Given the description of an element on the screen output the (x, y) to click on. 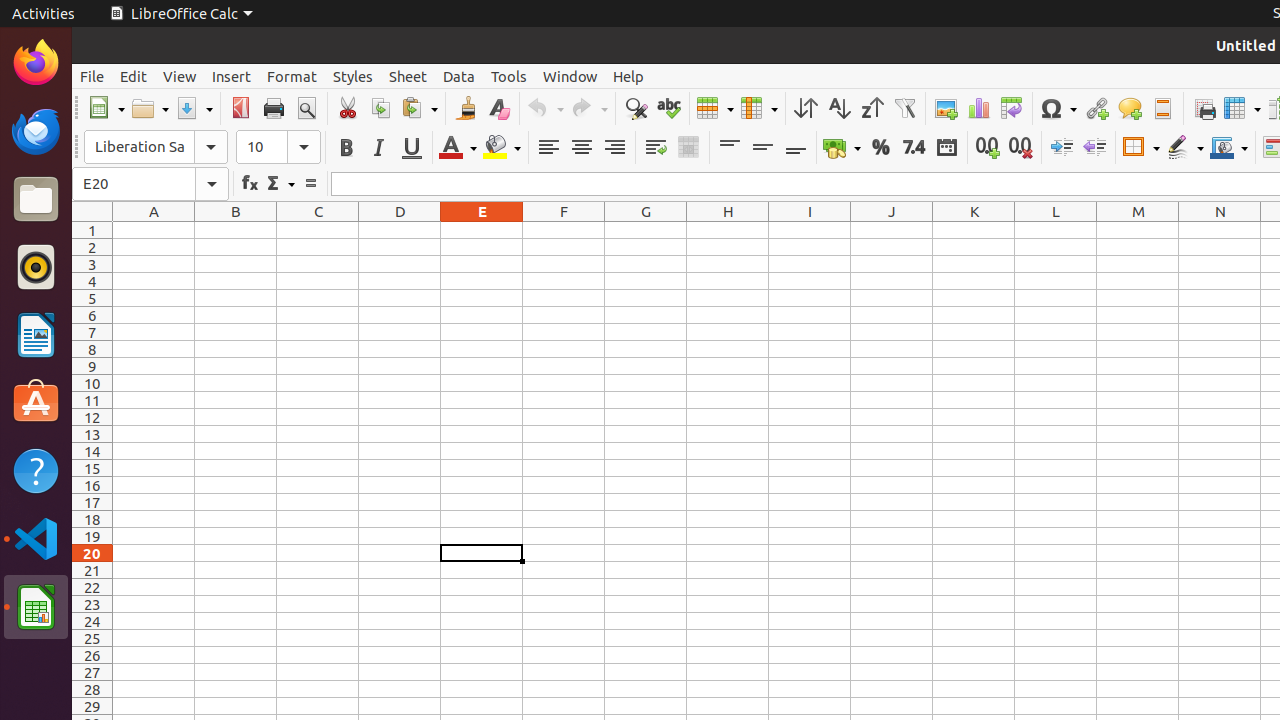
Tools Element type: menu (509, 76)
F1 Element type: table-cell (564, 230)
Styles Element type: menu (353, 76)
Spelling Element type: push-button (668, 108)
Window Element type: menu (570, 76)
